Given the description of an element on the screen output the (x, y) to click on. 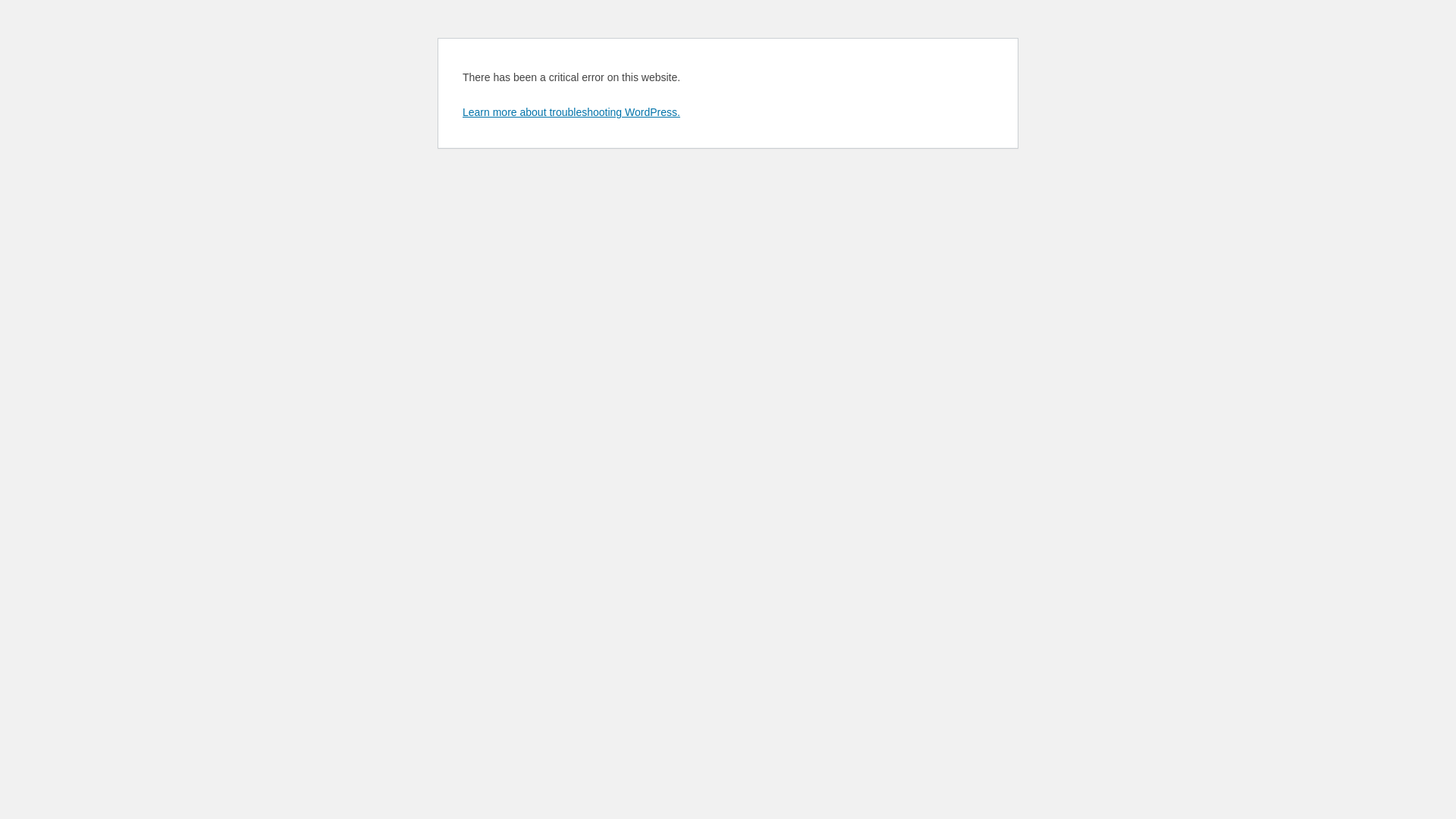
Learn more about troubleshooting WordPress. Element type: text (571, 112)
